Given the description of an element on the screen output the (x, y) to click on. 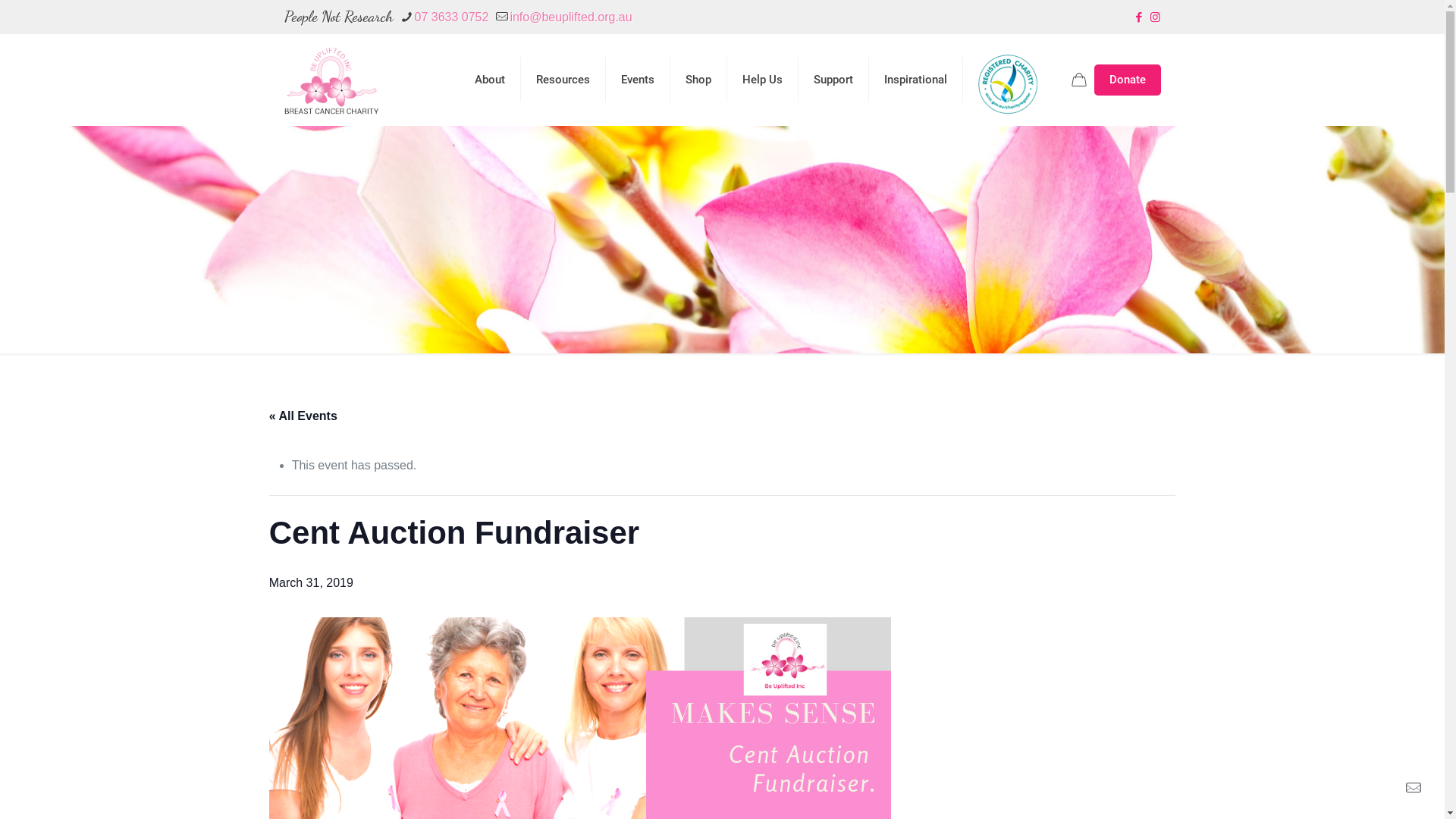
Resources Element type: text (562, 79)
Support Element type: text (832, 79)
Be Uplifted Inc Brisbane Breast Cancer Charity Element type: hover (330, 79)
Donate Element type: text (1126, 78)
Shop Element type: text (698, 79)
07 3633 0752 Element type: text (451, 16)
Inspirational Element type: text (916, 79)
Instagram Element type: hover (1155, 16)
info@beuplifted.org.au Element type: text (570, 16)
About Element type: text (489, 79)
Facebook Element type: hover (1138, 16)
Events Element type: text (637, 79)
Help Us Element type: text (761, 79)
